Given the description of an element on the screen output the (x, y) to click on. 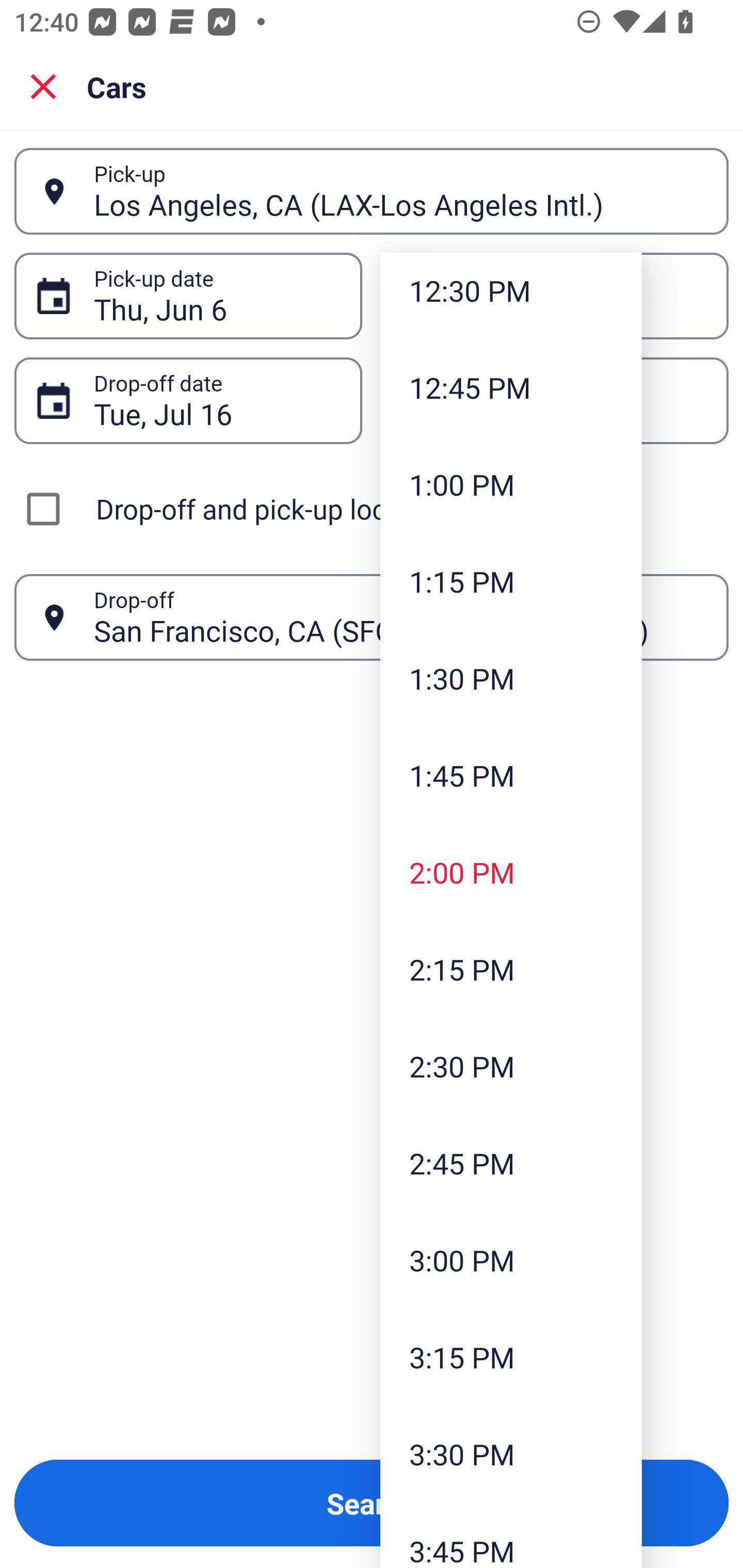
12:30 PM (510, 295)
12:45 PM (510, 386)
1:00 PM (510, 484)
1:15 PM (510, 581)
1:30 PM (510, 677)
1:45 PM (510, 774)
2:00 PM (510, 871)
2:15 PM (510, 968)
2:30 PM (510, 1065)
2:45 PM (510, 1163)
3:00 PM (510, 1260)
3:15 PM (510, 1356)
3:30 PM (510, 1453)
3:45 PM (510, 1535)
